Given the description of an element on the screen output the (x, y) to click on. 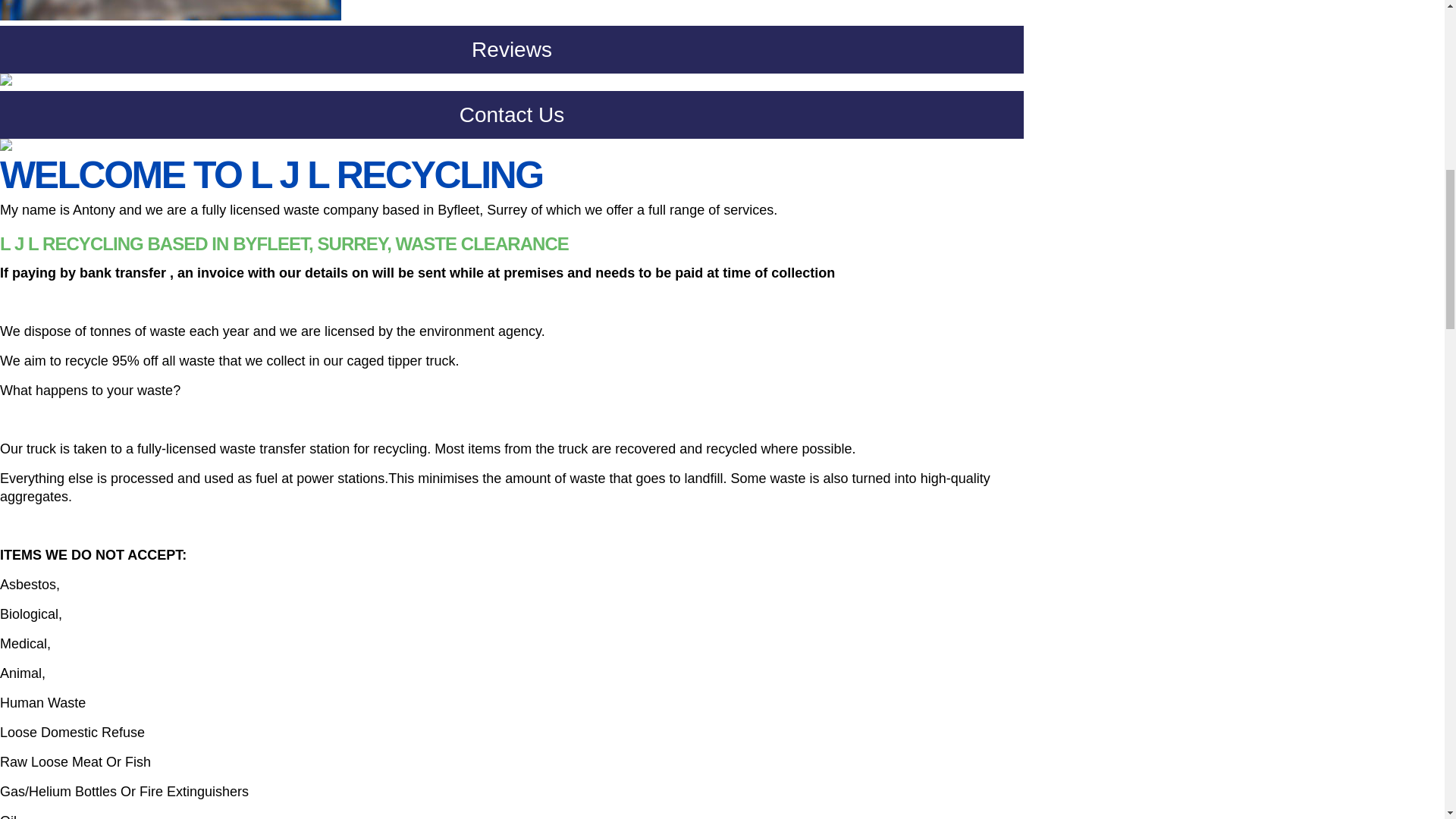
Contact Us (511, 121)
Reviews (511, 56)
Services (511, 11)
